Given the description of an element on the screen output the (x, y) to click on. 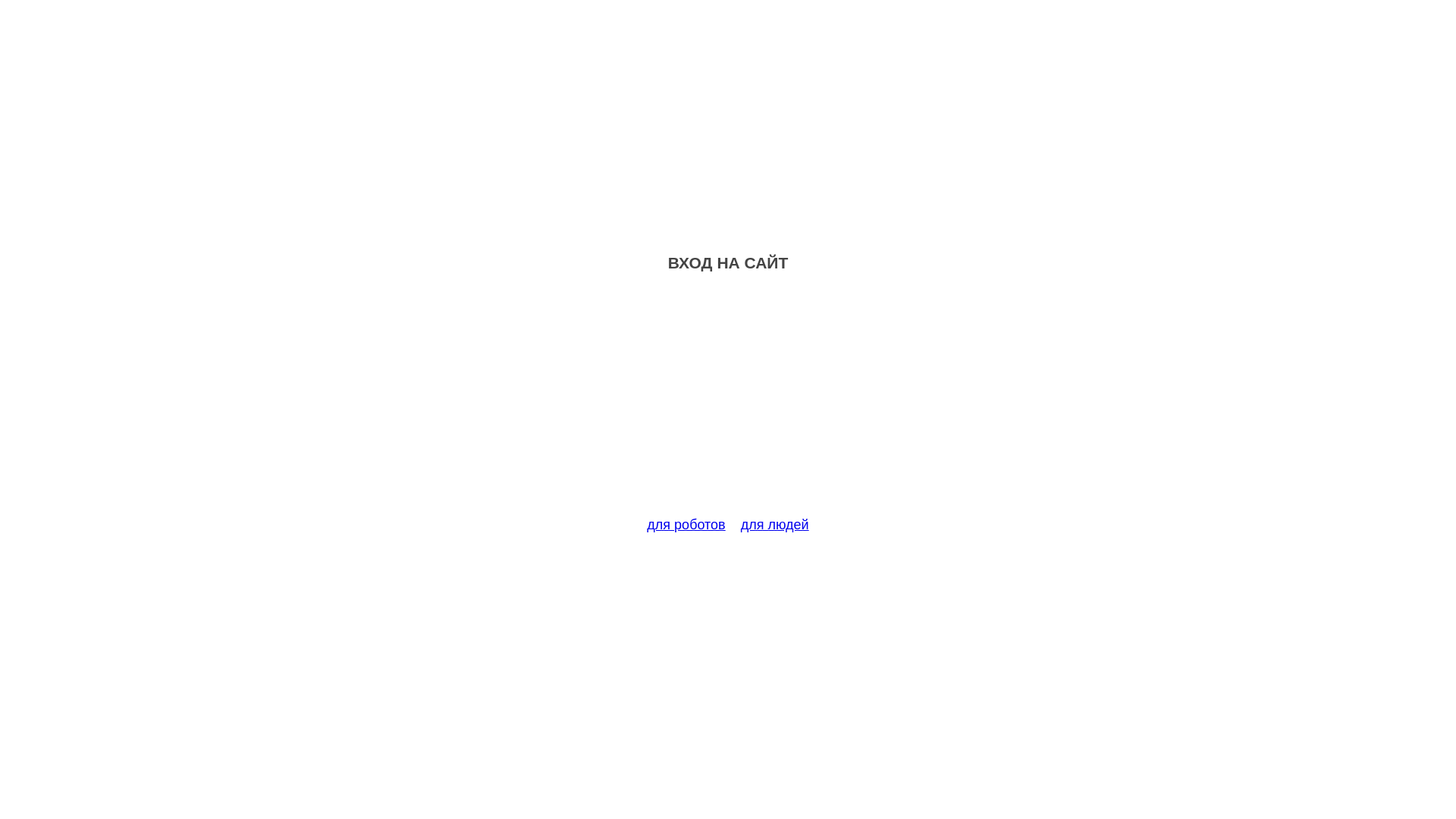
Advertisement Element type: hover (727, 403)
